Given the description of an element on the screen output the (x, y) to click on. 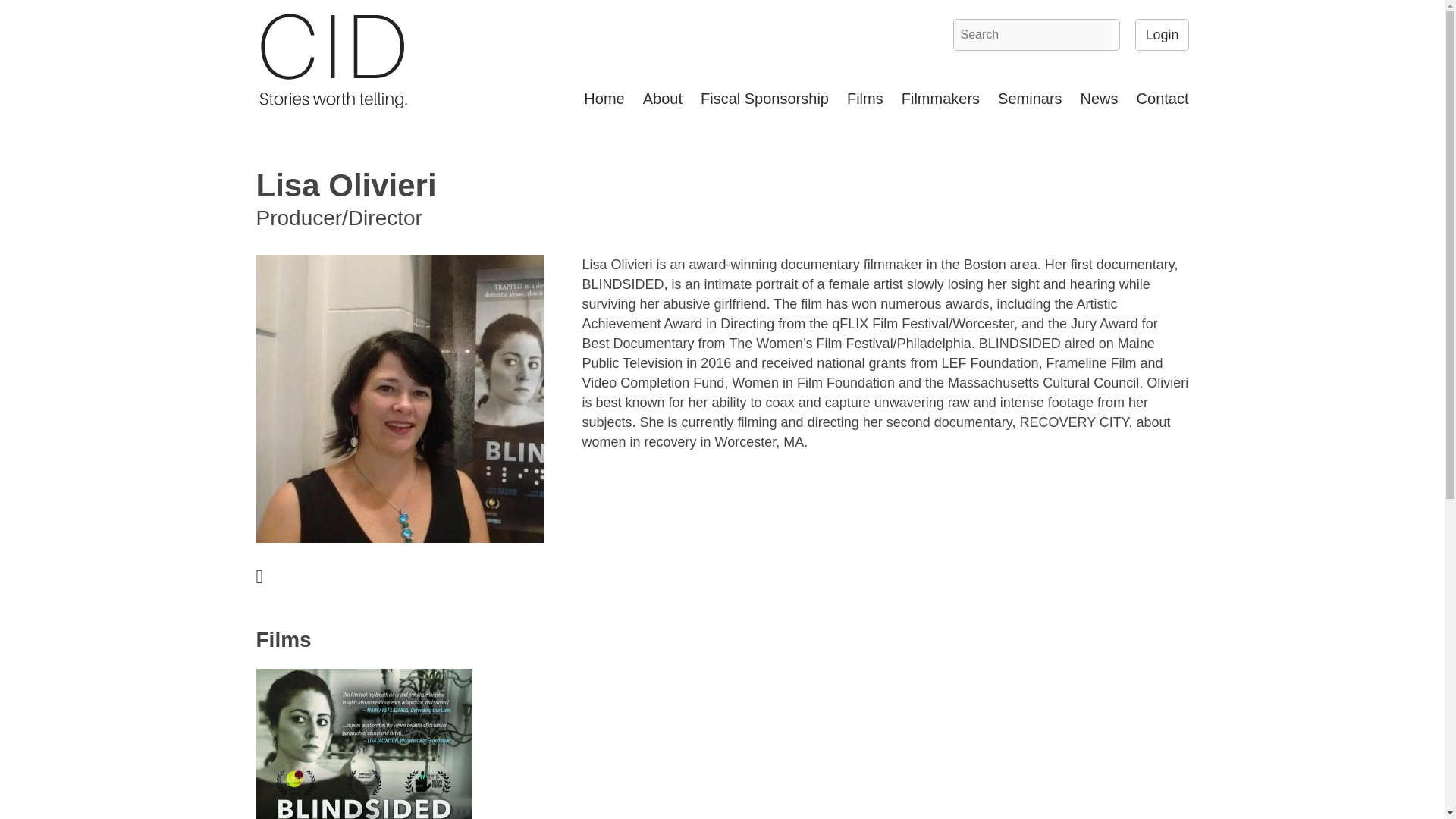
About (662, 98)
Login (1161, 34)
Films (865, 98)
Home (604, 98)
Fiscal Sponsorship (764, 98)
Blindsided (363, 744)
Filmmakers (940, 98)
Search for: (1032, 34)
News (1098, 98)
Contact (1157, 98)
